Given the description of an element on the screen output the (x, y) to click on. 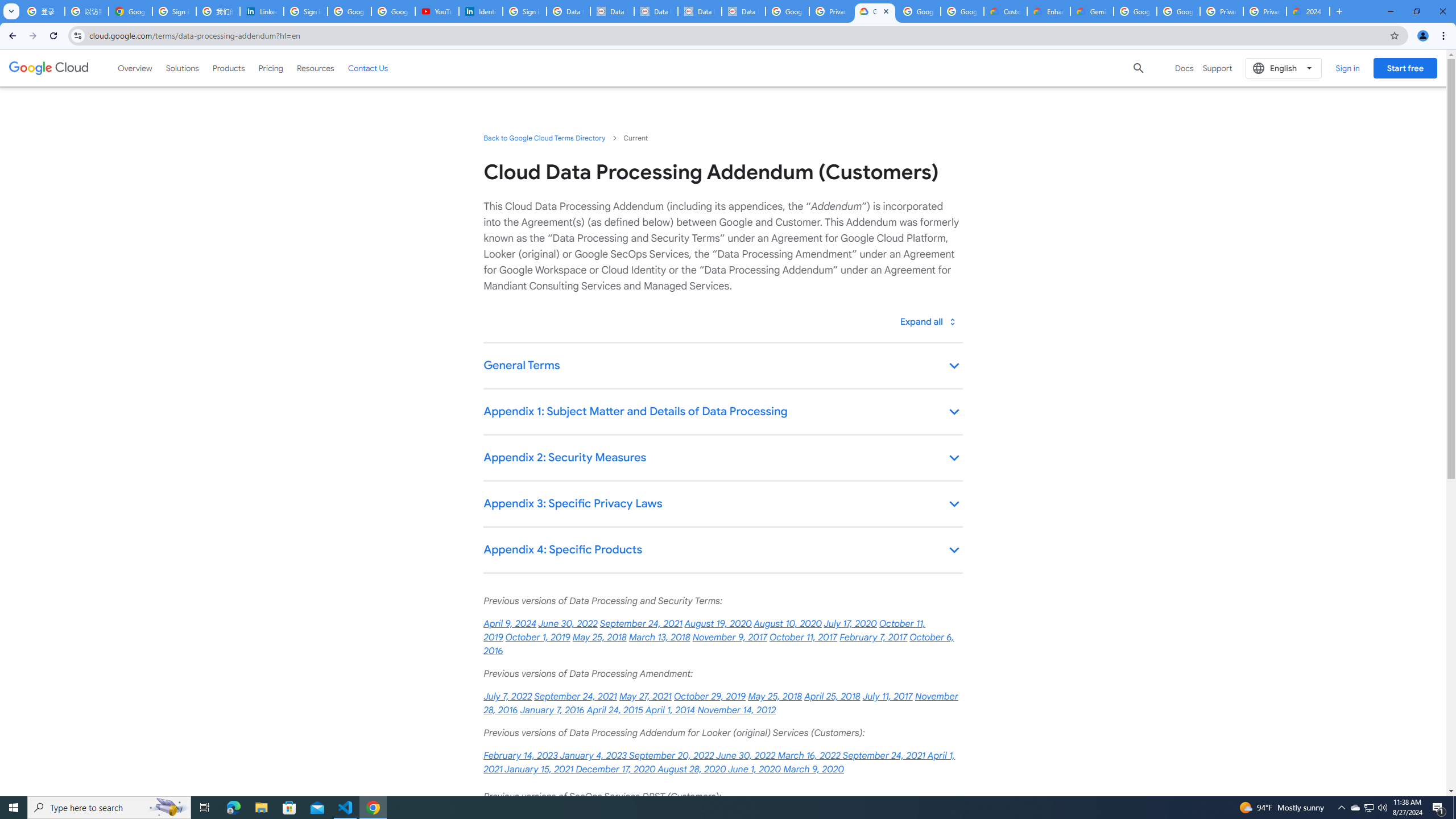
Toggle all (927, 320)
Appendix 3: Specific Privacy Laws keyboard_arrow_down (722, 504)
June 30, 2022 (568, 623)
March 9, 2020 (813, 769)
May 27, 2021 (644, 696)
Customer Care | Google Cloud (1005, 11)
January 7, 2016 (552, 709)
Google Cloud Platform (1178, 11)
